Given the description of an element on the screen output the (x, y) to click on. 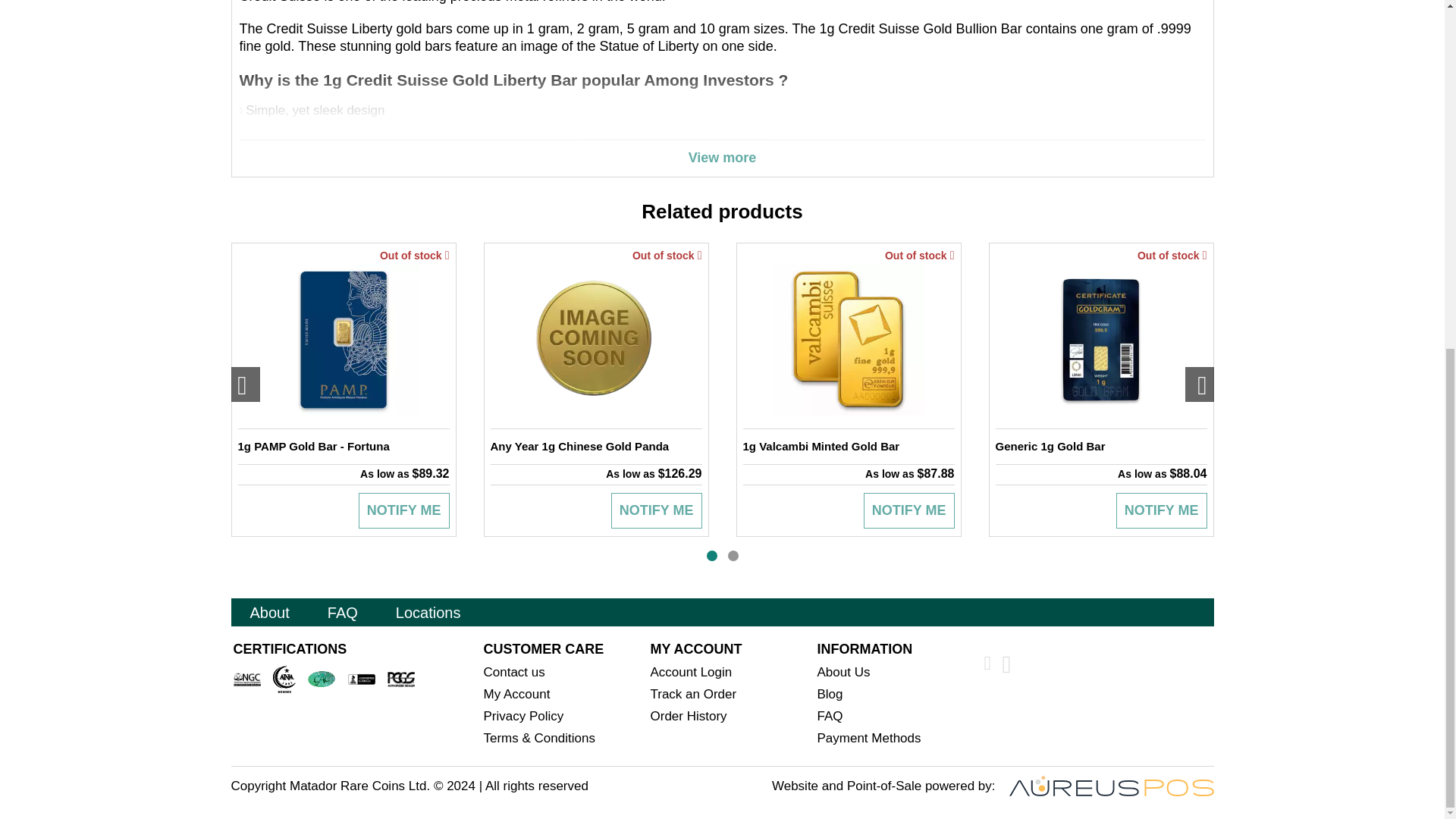
Generic 1g Gold Bar (1100, 446)
Any Year 1g Chinese Gold Panda (595, 446)
1g Valcambi Minted Gold Bar (848, 446)
1g PAMP Gold Bar - Fortuna (343, 446)
